Given the description of an element on the screen output the (x, y) to click on. 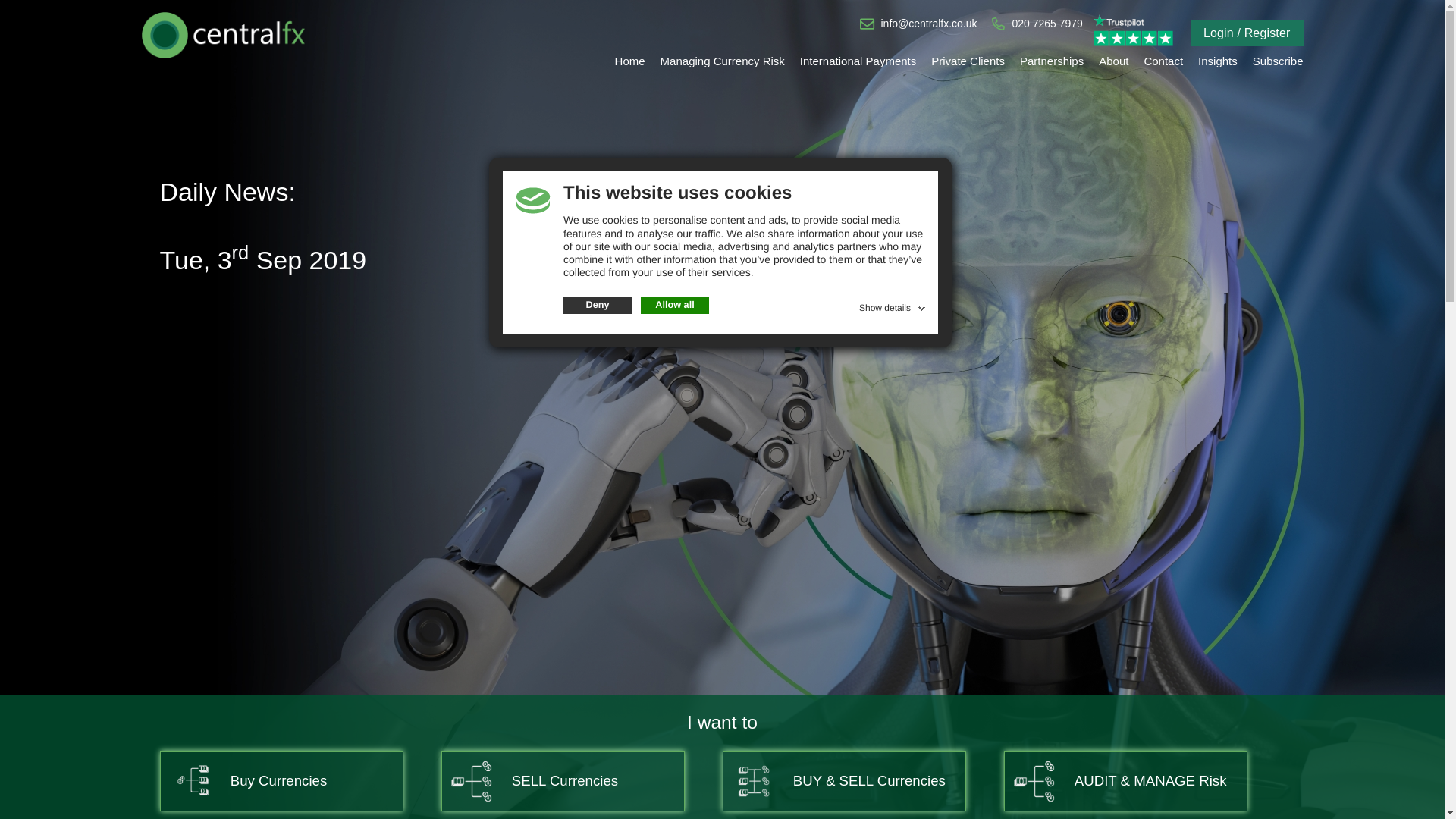
Show details (893, 305)
Allow all (674, 305)
Deny (597, 305)
